Given the description of an element on the screen output the (x, y) to click on. 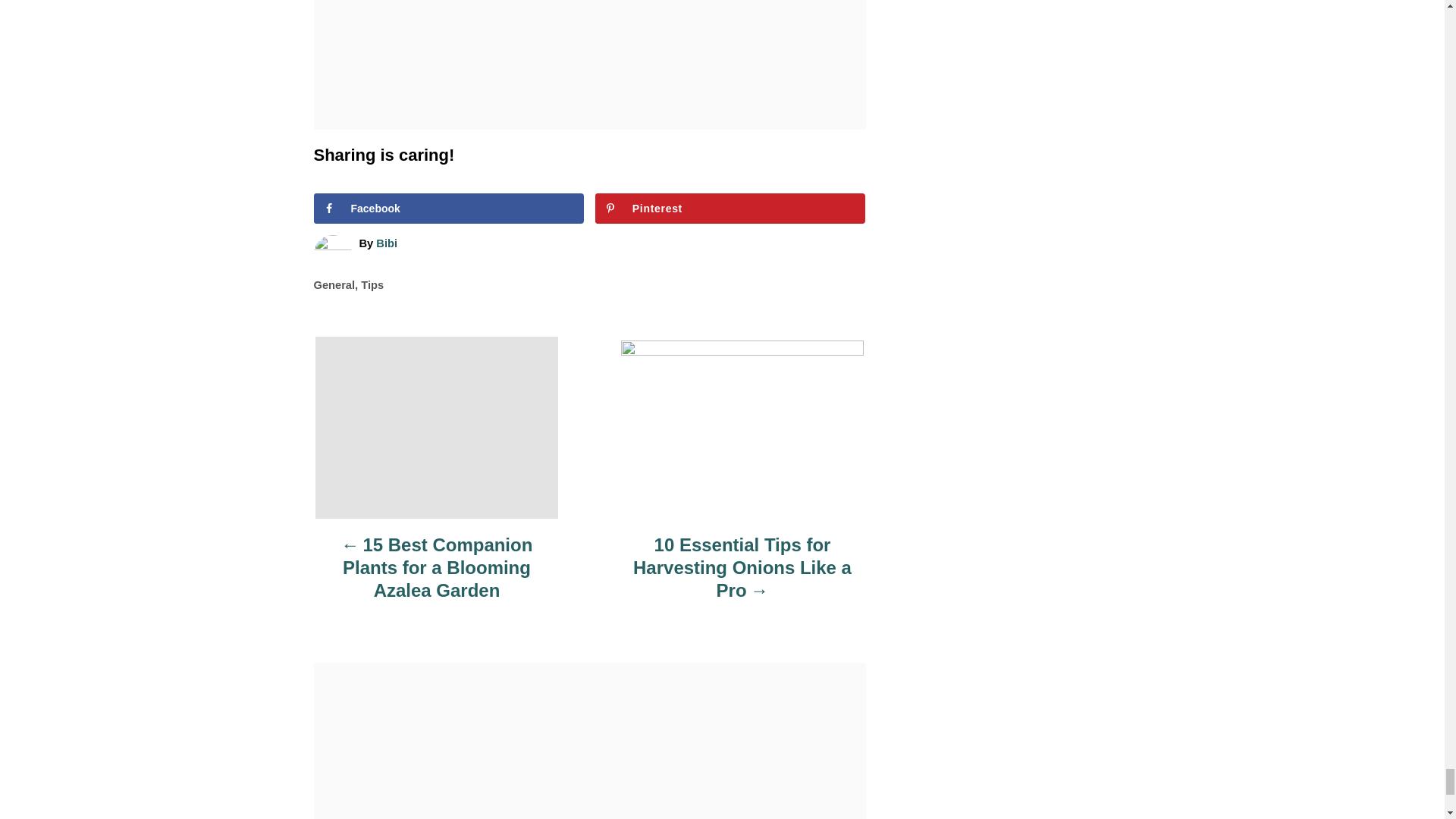
General (334, 285)
Share on Facebook (449, 208)
15 Best Companion Plants for a Blooming Azalea Garden (437, 575)
Bibi (386, 243)
Facebook (449, 208)
10 Essential Tips for Harvesting Onions Like a Pro (741, 575)
Tips (372, 285)
Save to Pinterest (730, 208)
Pinterest (730, 208)
